Given the description of an element on the screen output the (x, y) to click on. 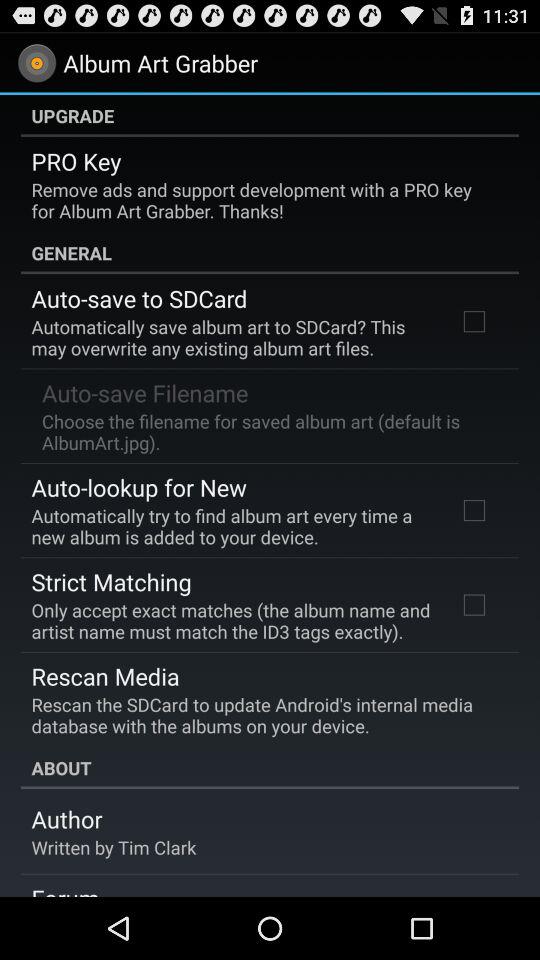
swipe until rescan the sdcard item (263, 715)
